Given the description of an element on the screen output the (x, y) to click on. 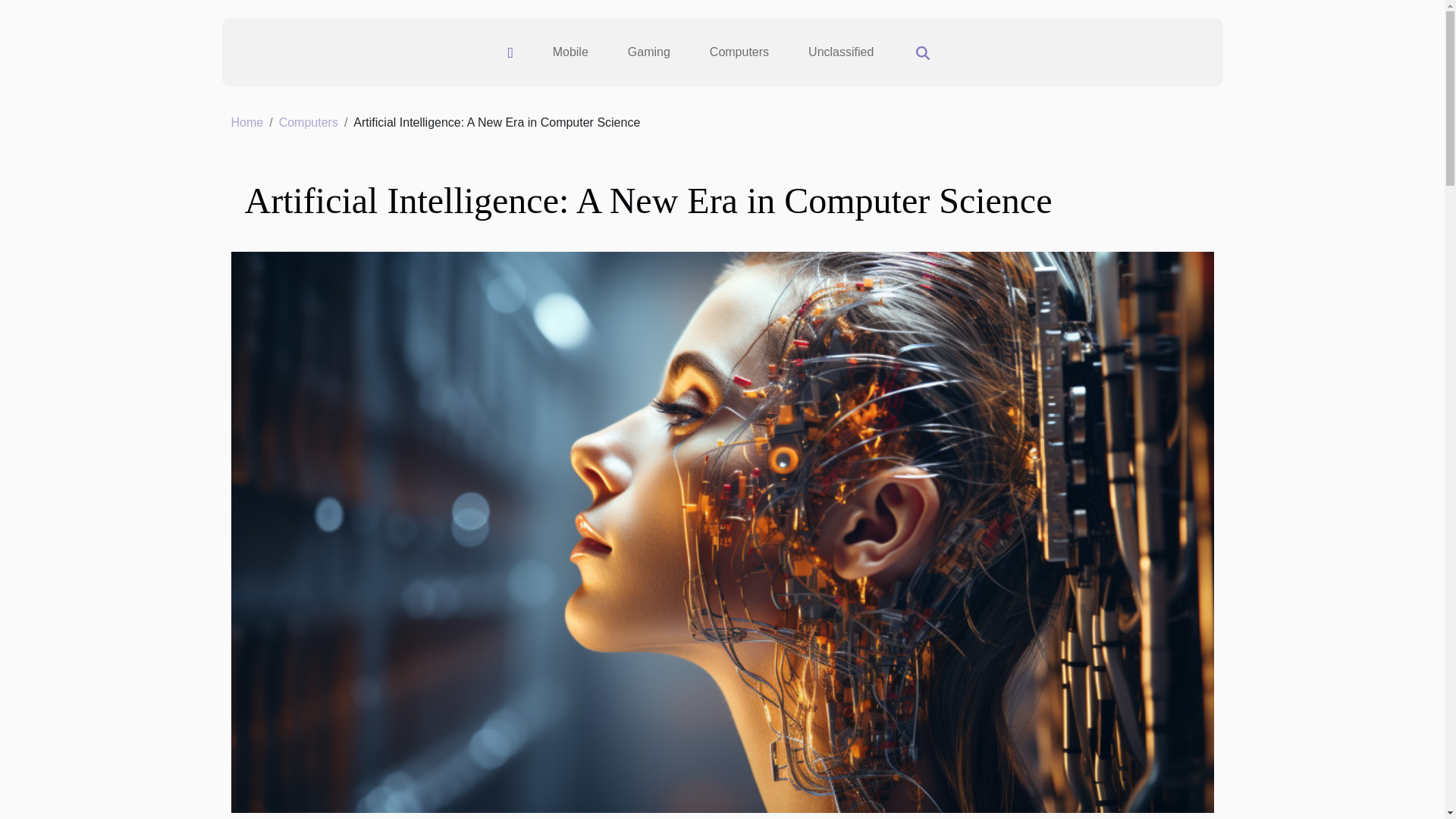
Home (246, 122)
Computers (308, 122)
Computers (308, 122)
Gaming (649, 51)
Mobile (570, 51)
Computers (738, 51)
Unclassified (840, 51)
